Given the description of an element on the screen output the (x, y) to click on. 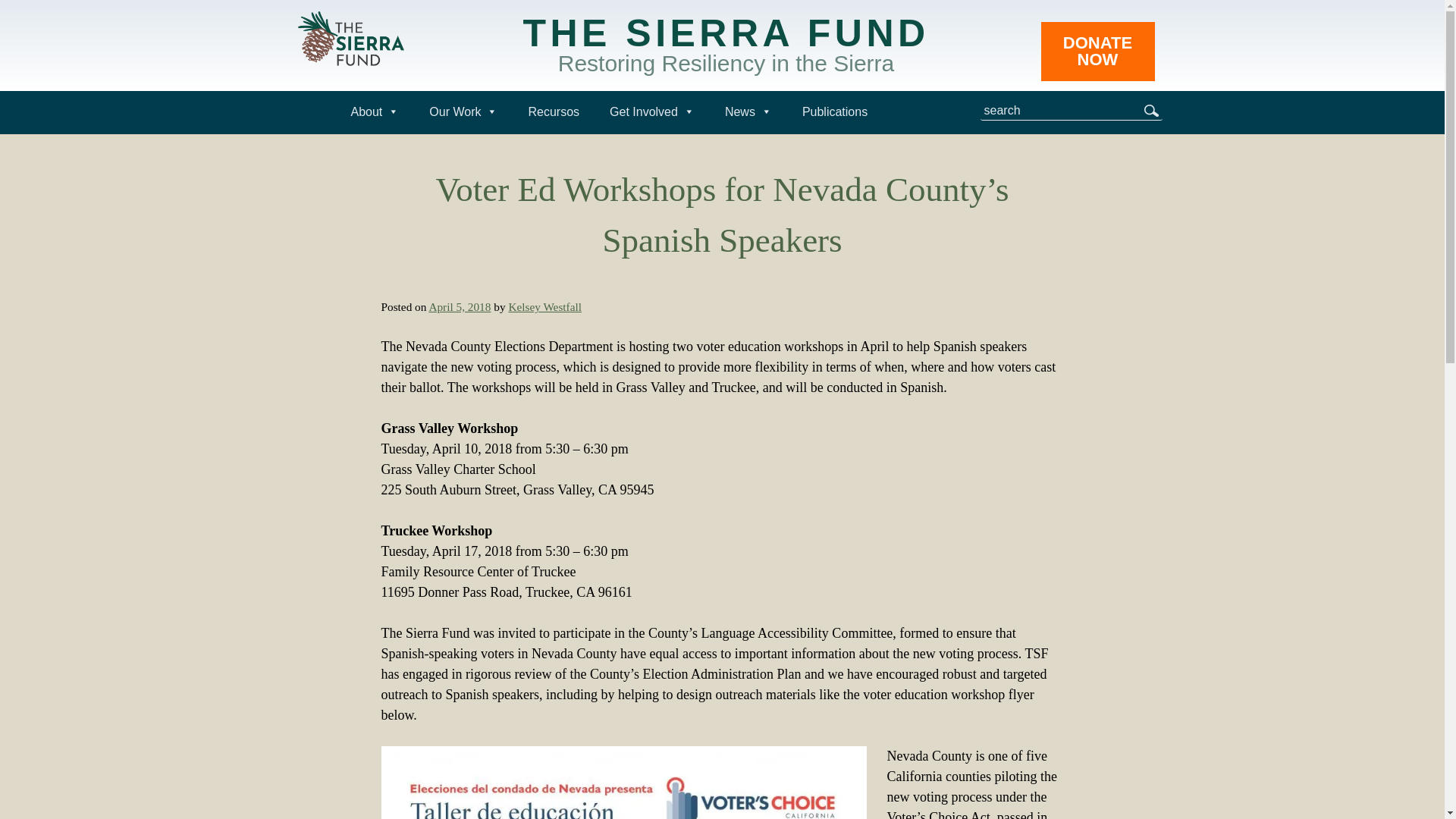
DONATE NOW (1097, 51)
Publications (834, 111)
Our Work (725, 50)
Recursos (463, 111)
About (552, 111)
Search (374, 111)
